Given the description of an element on the screen output the (x, y) to click on. 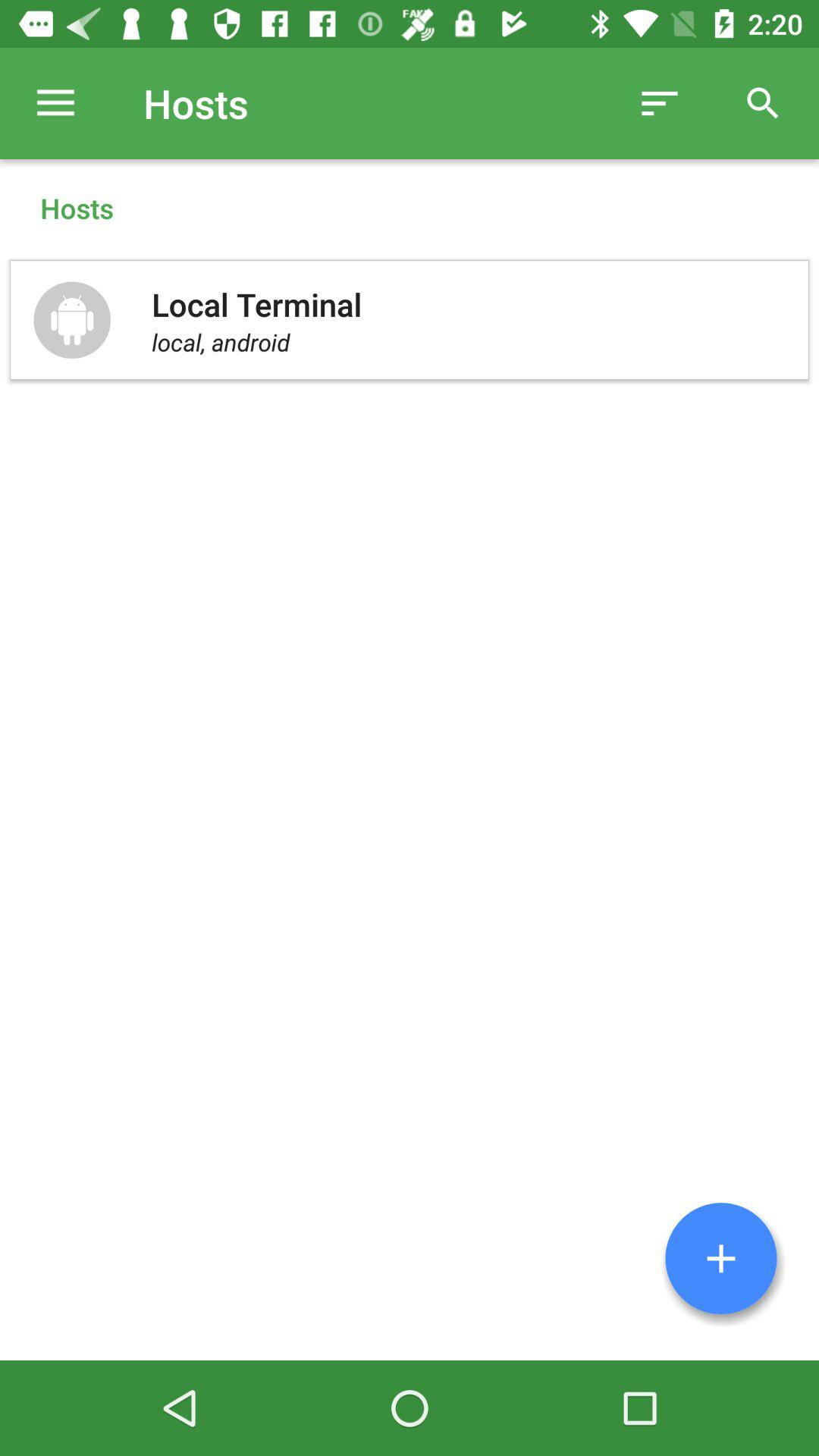
click the icon next to hosts item (55, 103)
